Given the description of an element on the screen output the (x, y) to click on. 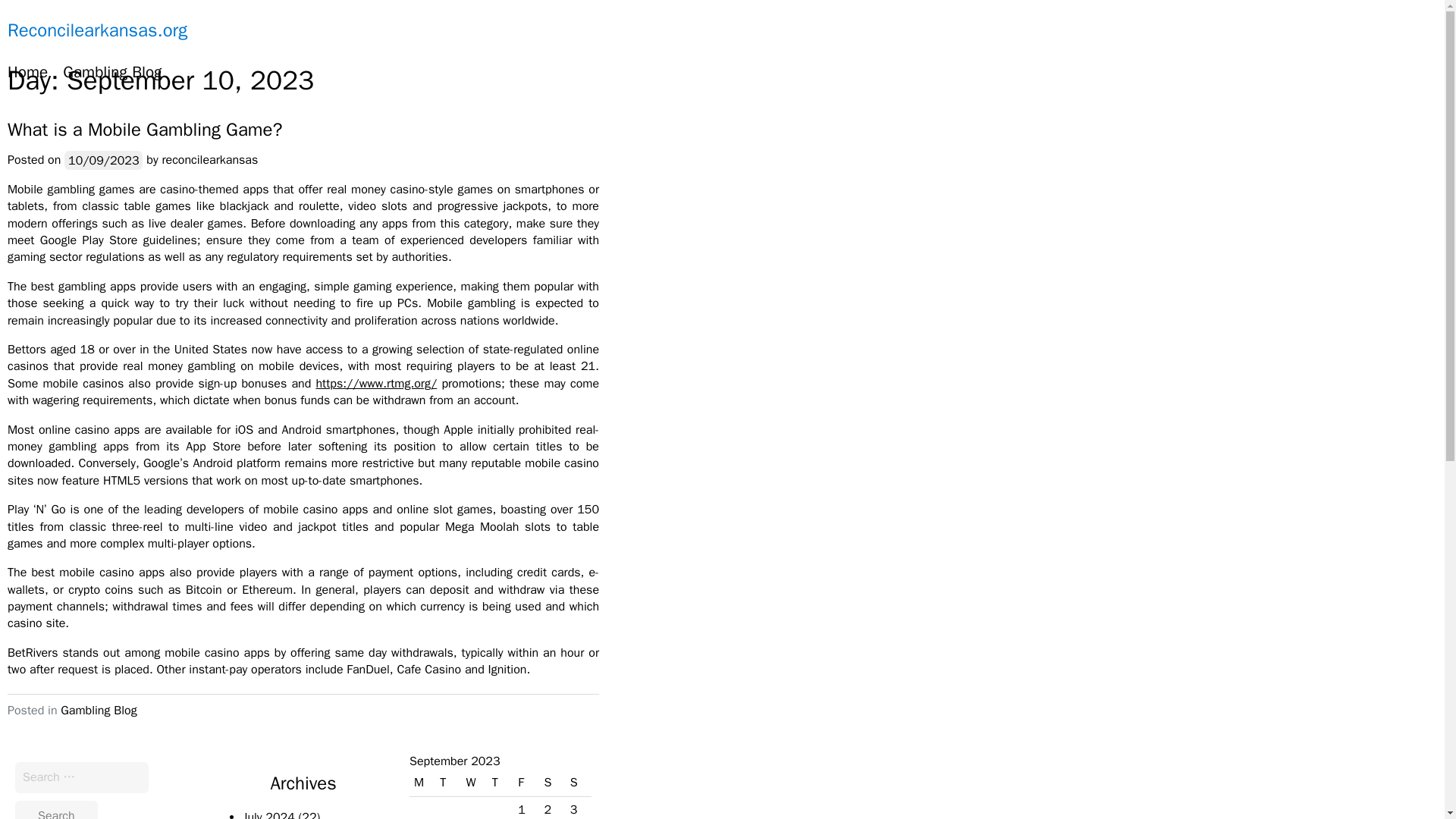
Monday (422, 782)
Sunday (578, 782)
Search (55, 809)
July 2024 (269, 814)
Gambling Blog (98, 710)
Thursday (500, 782)
Gambling Blog (111, 73)
Search (55, 809)
Wednesday (474, 782)
Tuesday (448, 782)
Saturday (551, 782)
Home (27, 73)
Search (55, 809)
Friday (525, 782)
